Given the description of an element on the screen output the (x, y) to click on. 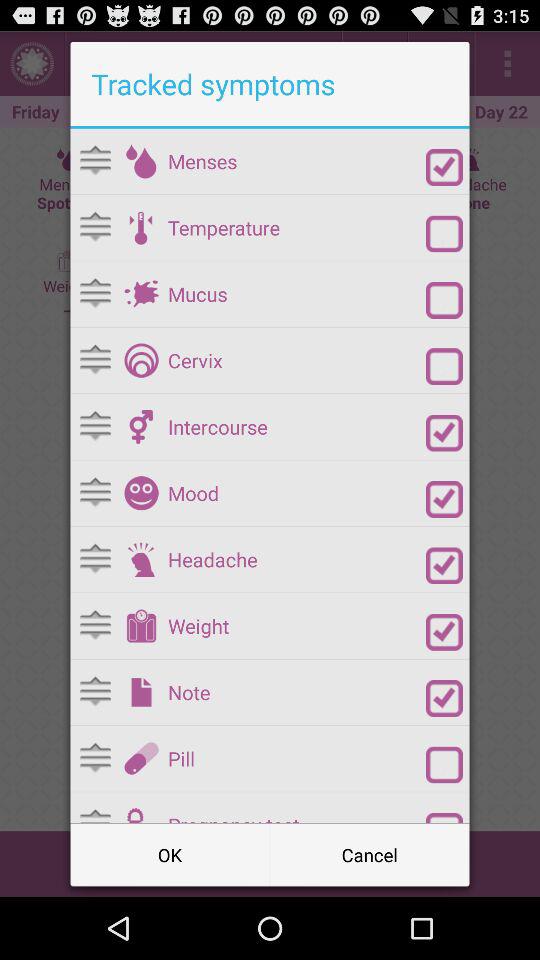
launch the item above pill icon (296, 692)
